Given the description of an element on the screen output the (x, y) to click on. 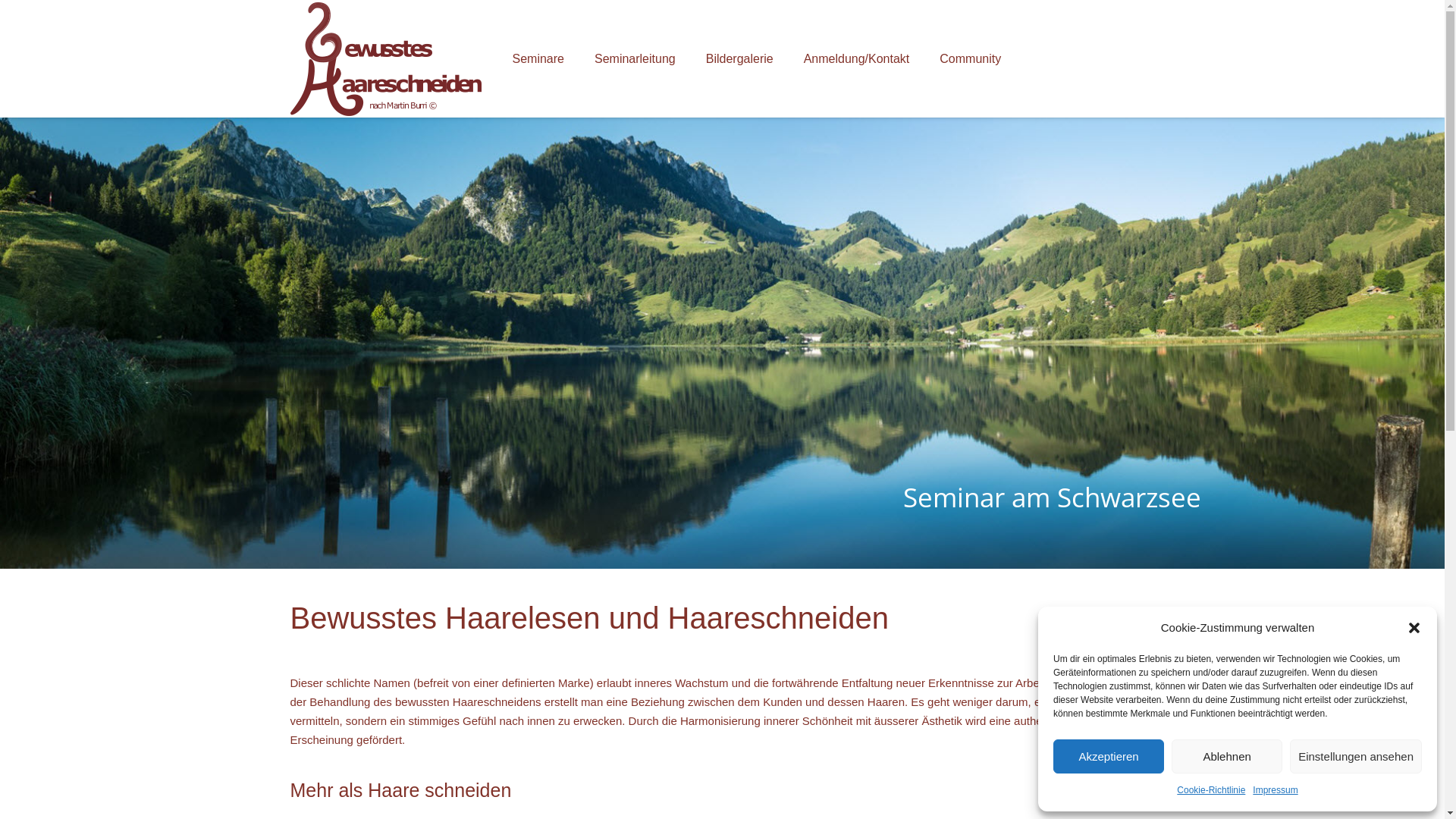
Akzeptieren Element type: text (1108, 756)
Seminarleitung Element type: text (634, 58)
Impressum Element type: text (1274, 790)
Anmeldung/Kontakt Element type: text (856, 58)
Seminare Element type: text (538, 58)
Cookie-Richtlinie Element type: text (1210, 790)
Einstellungen ansehen Element type: text (1355, 756)
Ablehnen Element type: text (1226, 756)
Community Element type: text (970, 58)
Bildergalerie Element type: text (739, 58)
